Given the description of an element on the screen output the (x, y) to click on. 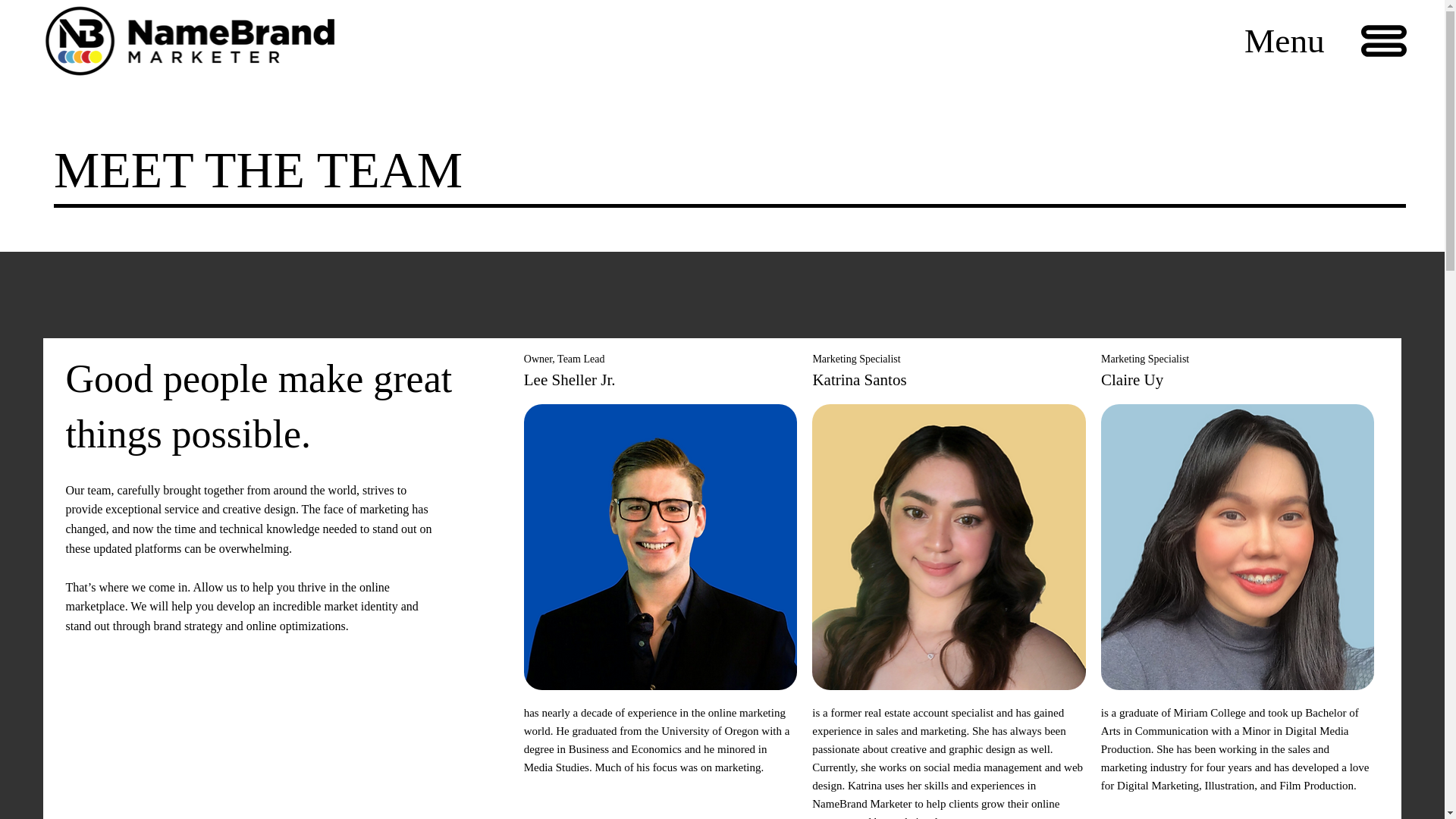
Lee Sheller Jr. (569, 380)
Claire Uy (1131, 380)
Katrina Santos (858, 380)
Marketing Specialist (855, 358)
Owner, Team Lead (564, 358)
Marketing Specialist (1144, 358)
